Given the description of an element on the screen output the (x, y) to click on. 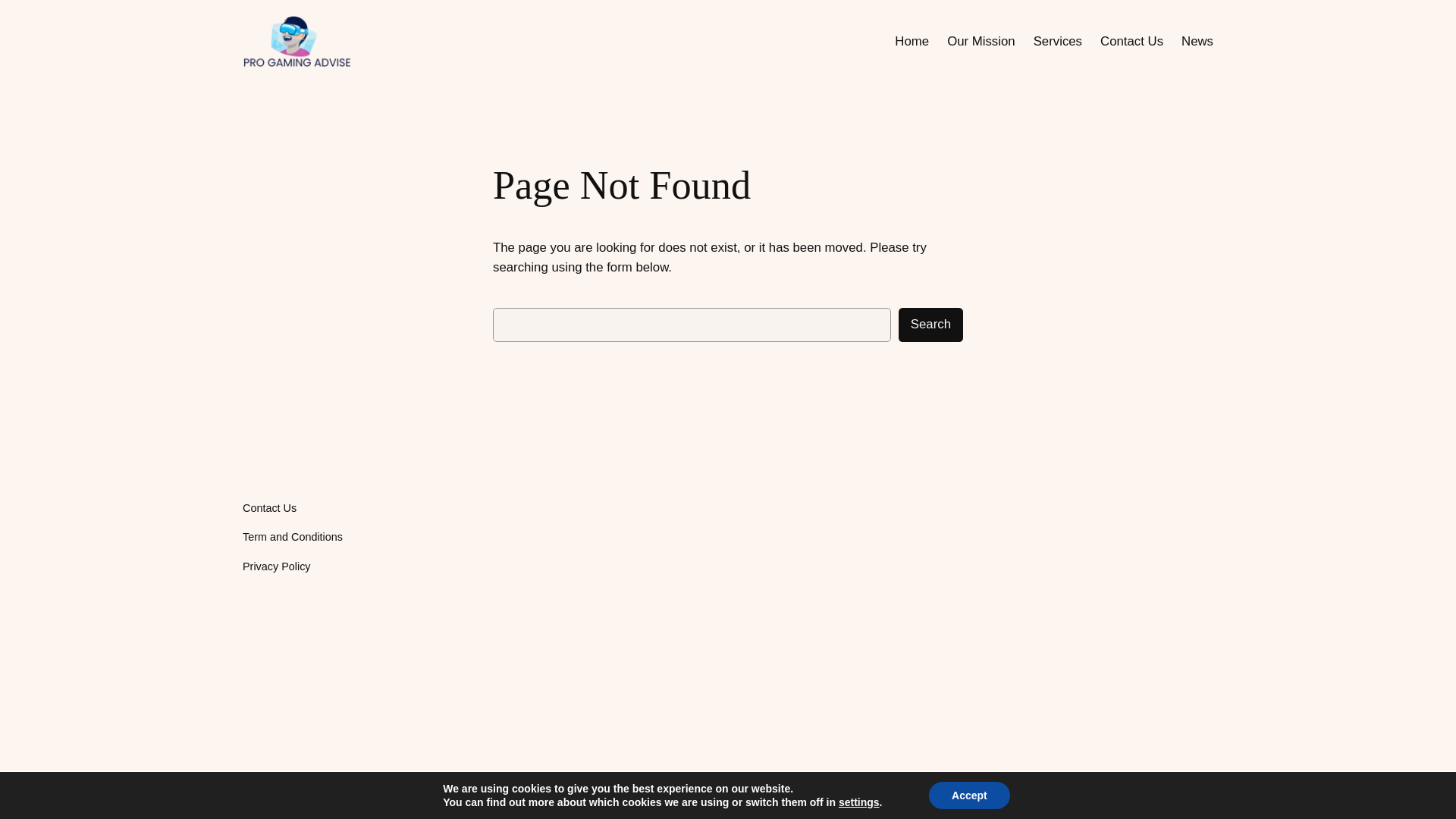
News (1196, 41)
Services (1057, 41)
Term and Conditions (292, 536)
Contact Us (270, 507)
Our Mission (980, 41)
Search (930, 324)
Home (911, 41)
Privacy Policy (277, 565)
Contact Us (1131, 41)
